Given the description of an element on the screen output the (x, y) to click on. 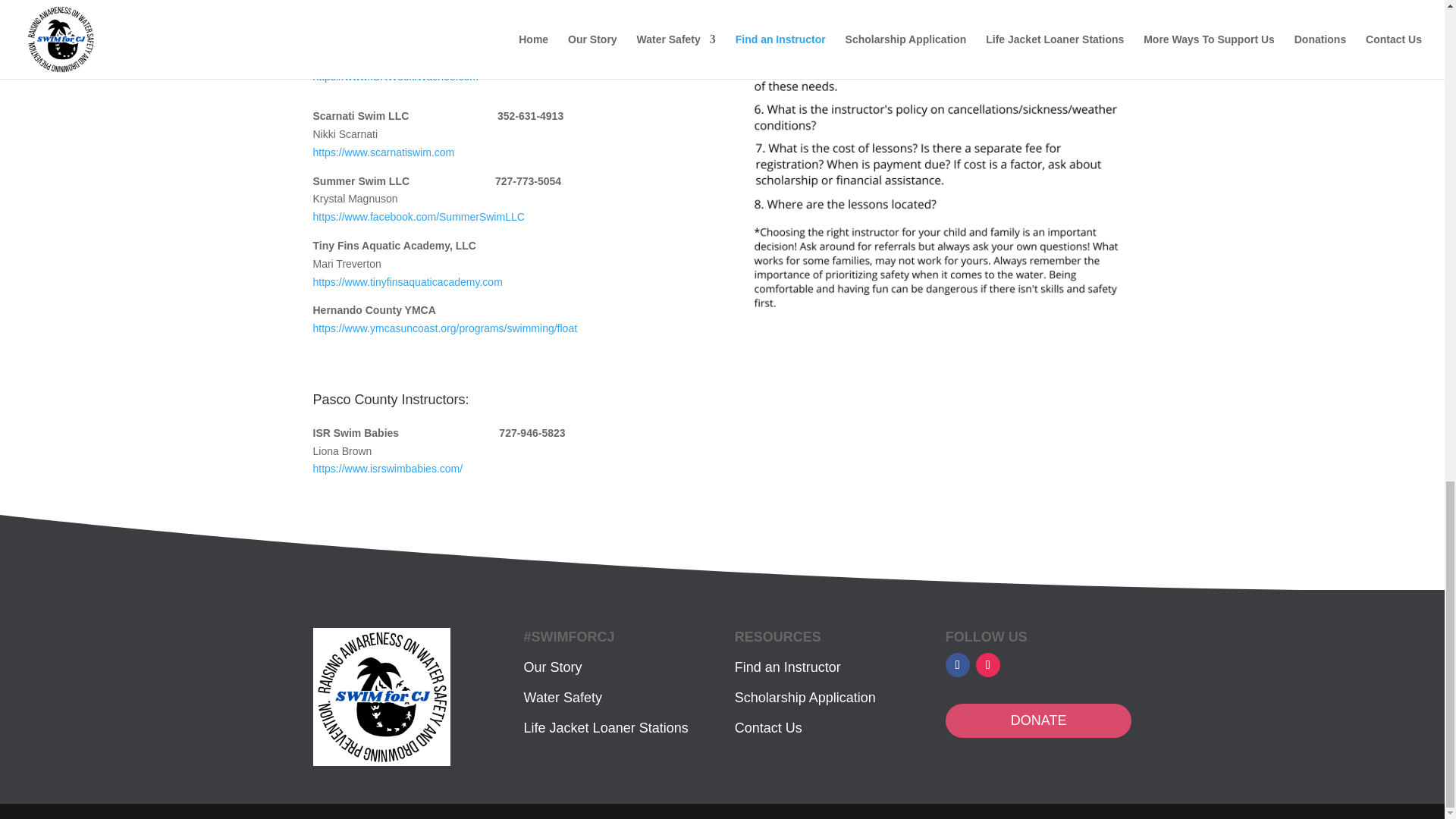
Raising-awareness-on-water-safety-and-drowning-prevention.-1 (381, 696)
Follow on Facebook (956, 664)
Follow on Instagram (987, 664)
